Given the description of an element on the screen output the (x, y) to click on. 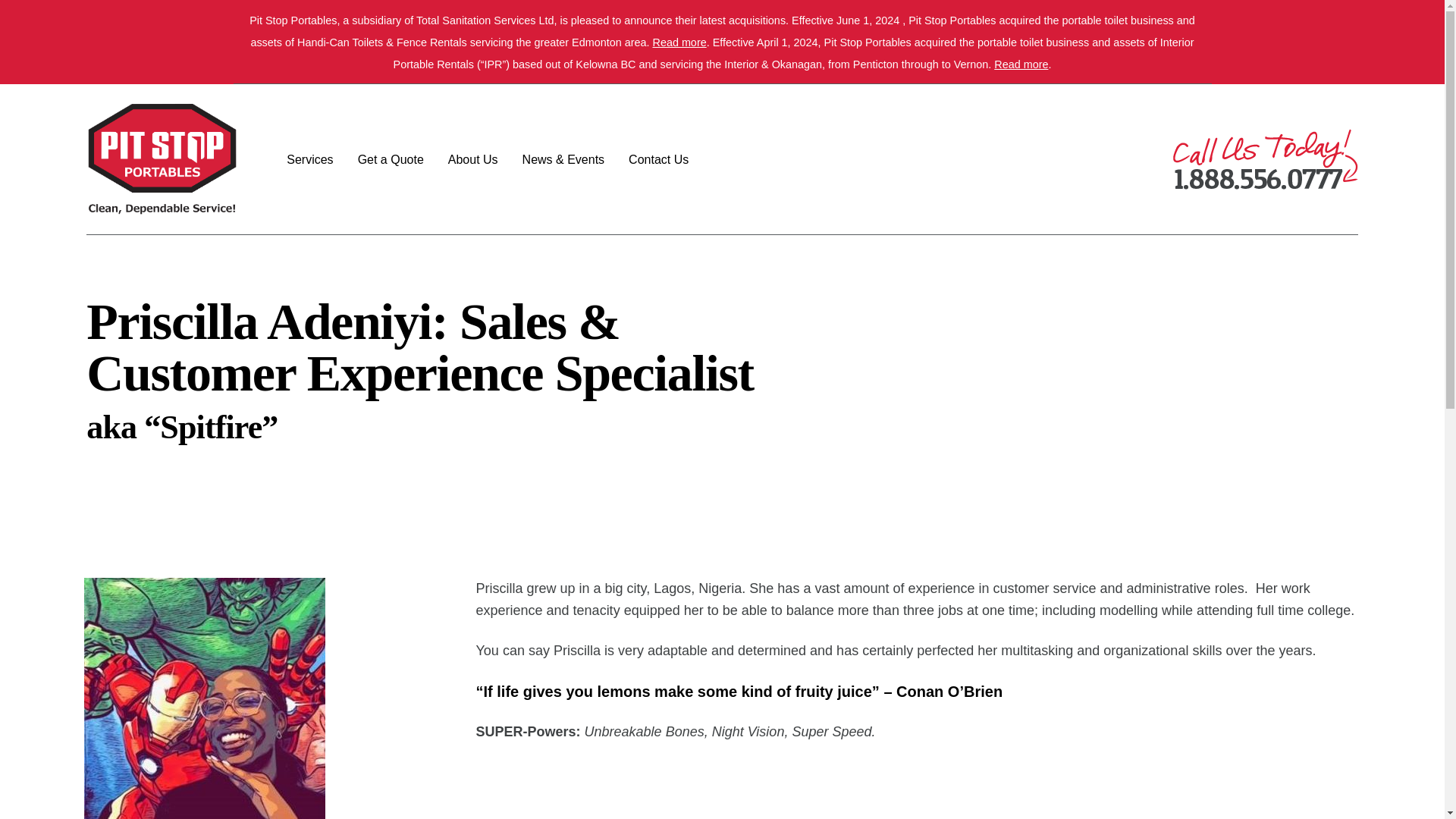
Services (309, 159)
Read more (679, 42)
About Us (472, 159)
Get a Quote (390, 159)
Read more (1021, 64)
Contact Us (658, 159)
Profile Pic (203, 698)
